Given the description of an element on the screen output the (x, y) to click on. 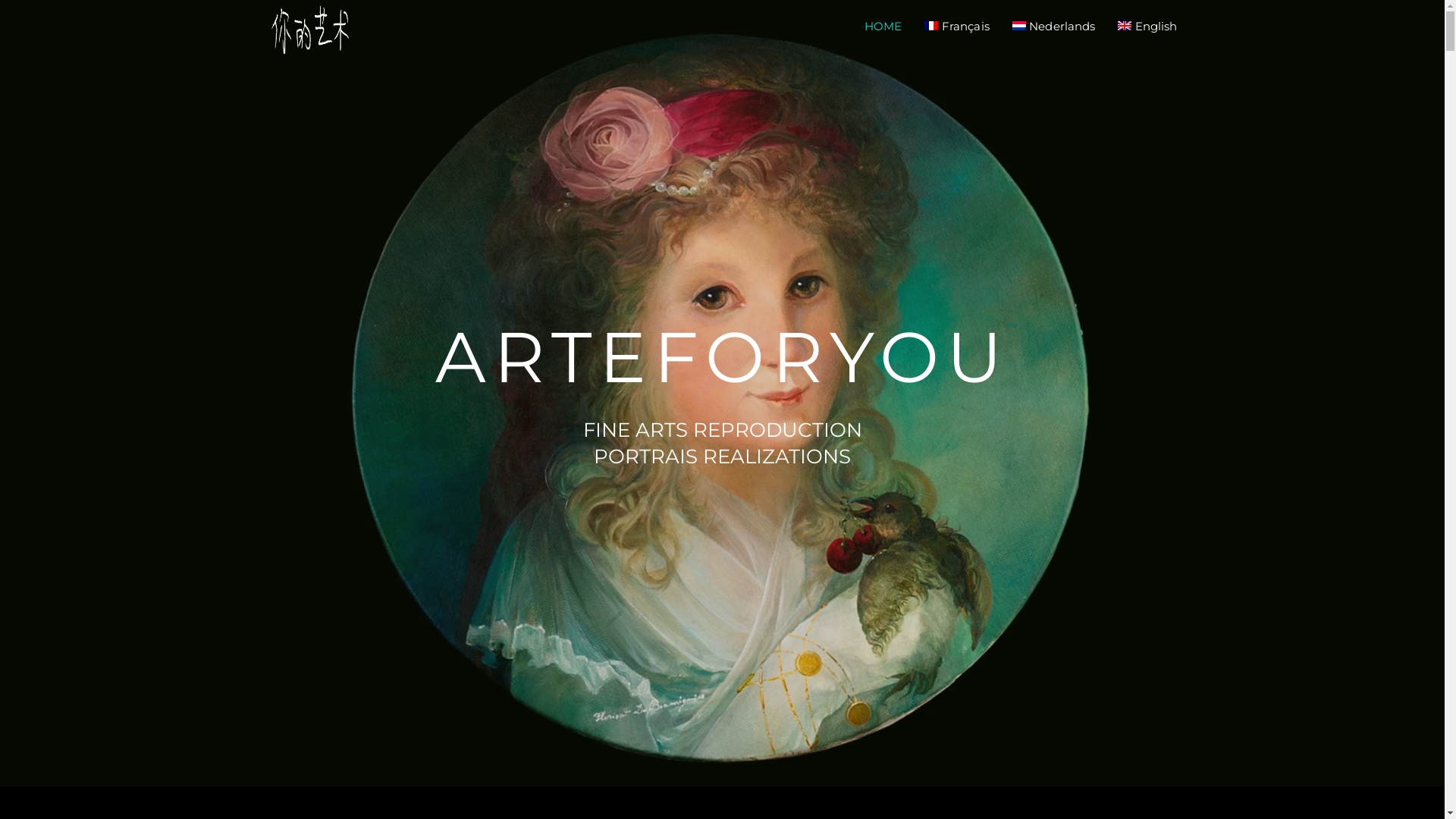
HOME Element type: text (883, 26)
Nederlands Element type: text (1054, 26)
ARTEFORYOU
FINE ARTS REPRODUCTION
PORTRAIS REALIZATIONS Element type: text (722, 393)
English Element type: text (1147, 26)
